Given the description of an element on the screen output the (x, y) to click on. 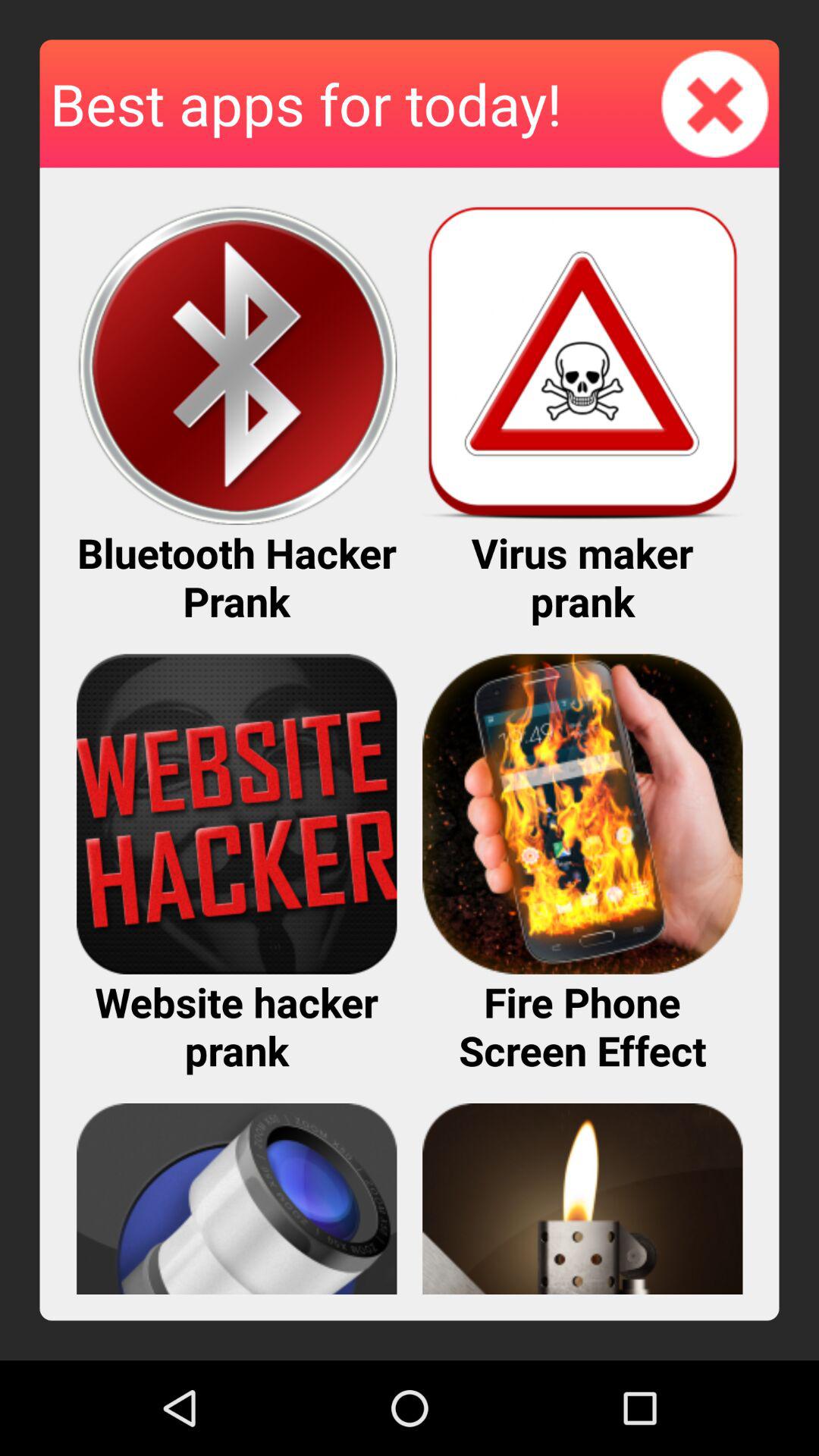
exit screen (714, 103)
